Given the description of an element on the screen output the (x, y) to click on. 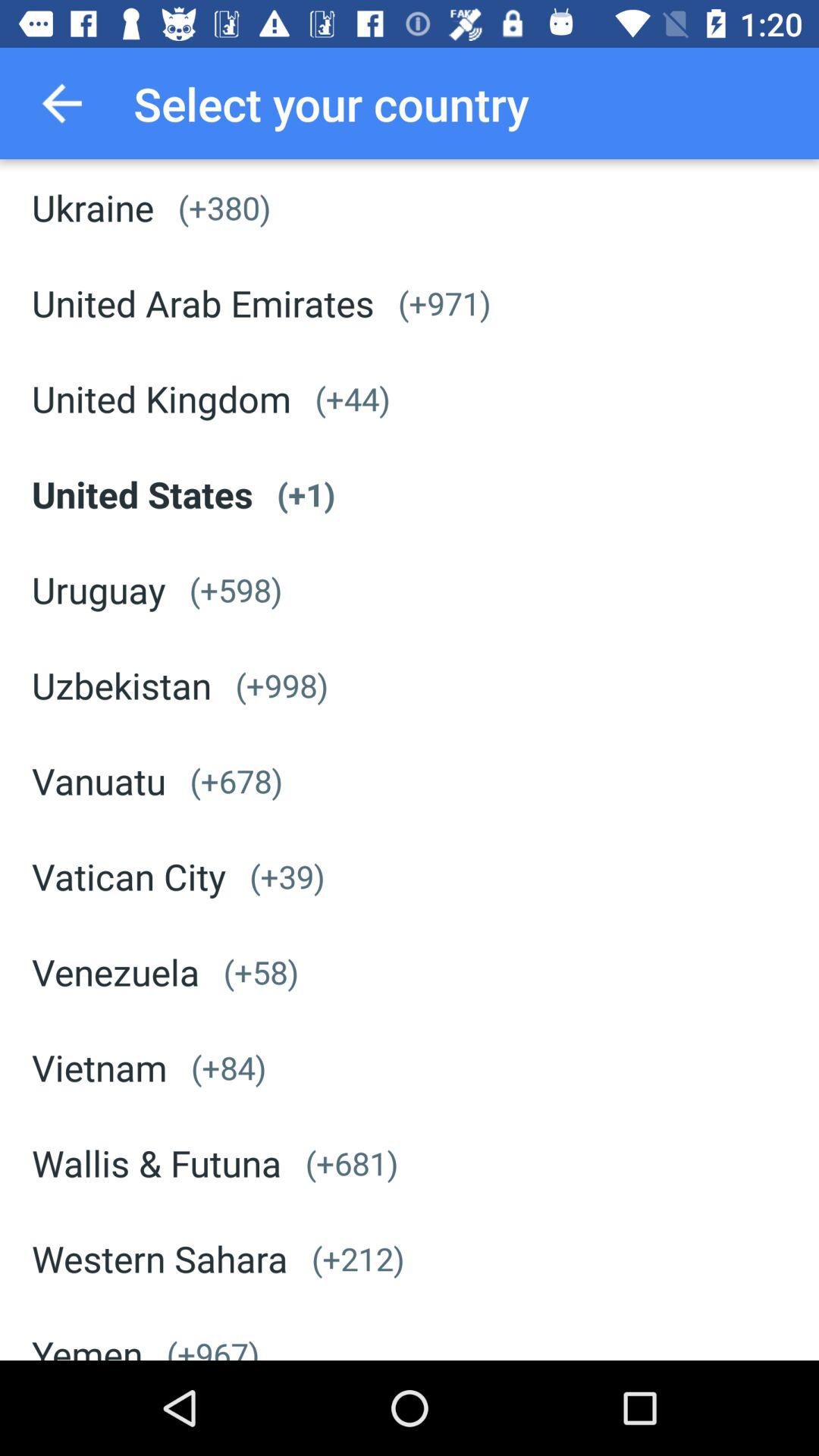
turn off the app to the left of (+84) item (99, 1067)
